Given the description of an element on the screen output the (x, y) to click on. 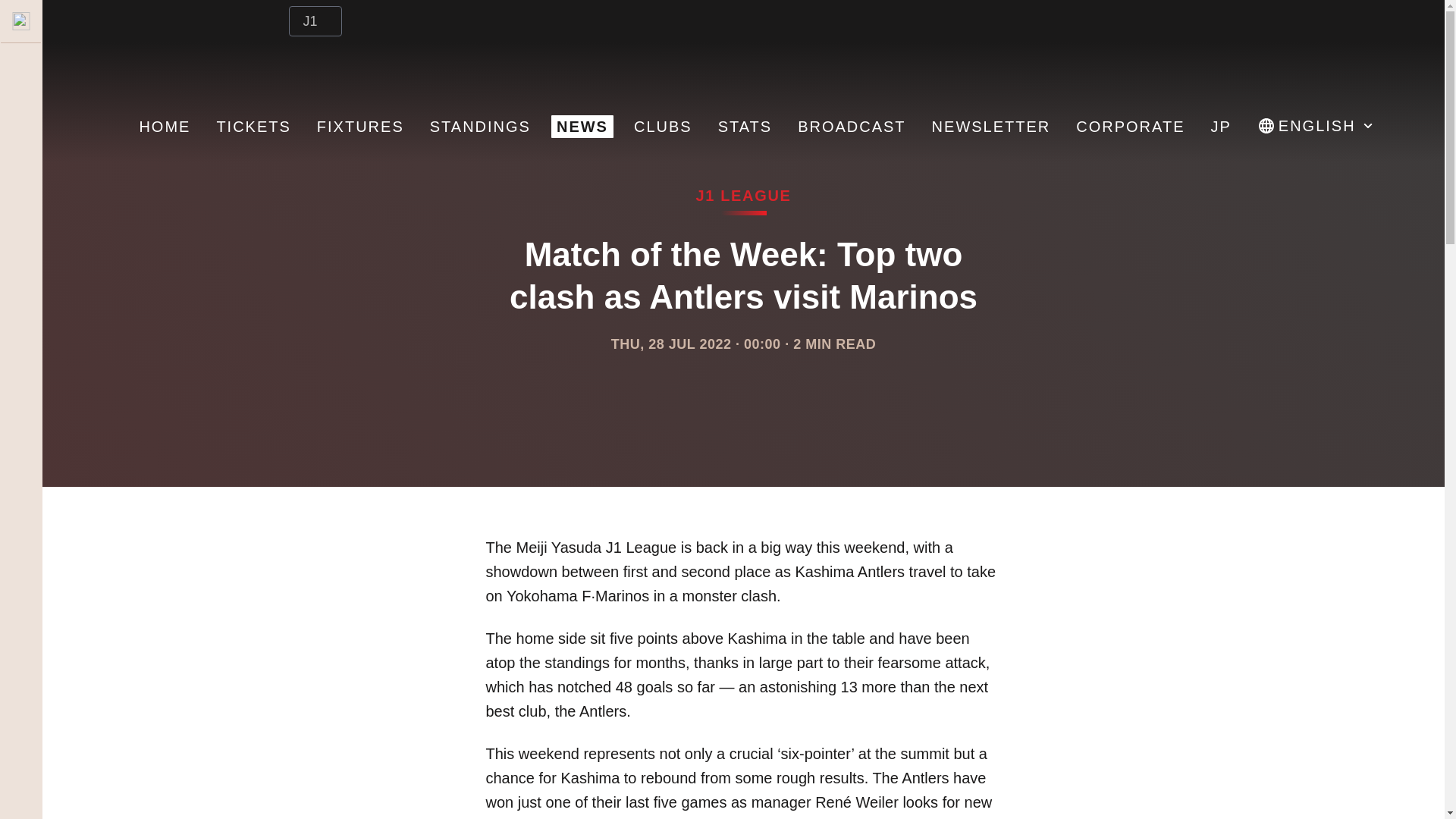
ENGLISH (1314, 126)
HOME (164, 126)
JP (1220, 126)
NEWS (581, 126)
FIXTURES (360, 126)
BROADCAST (851, 126)
NEWSLETTER (991, 126)
CORPORATE (1129, 126)
STANDINGS (480, 126)
STATS (745, 126)
